Given the description of an element on the screen output the (x, y) to click on. 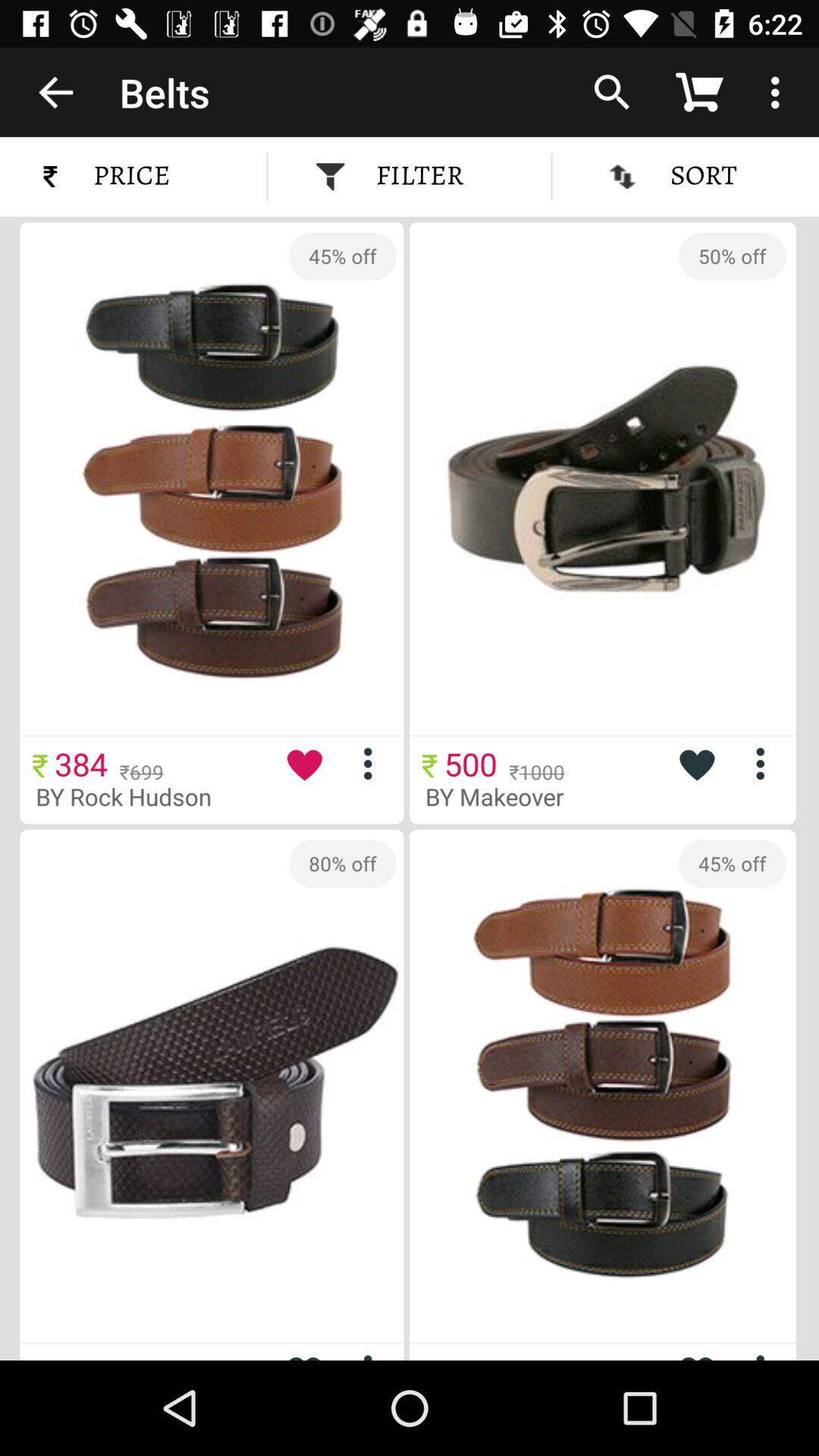
choose to heart this (696, 1351)
